Given the description of an element on the screen output the (x, y) to click on. 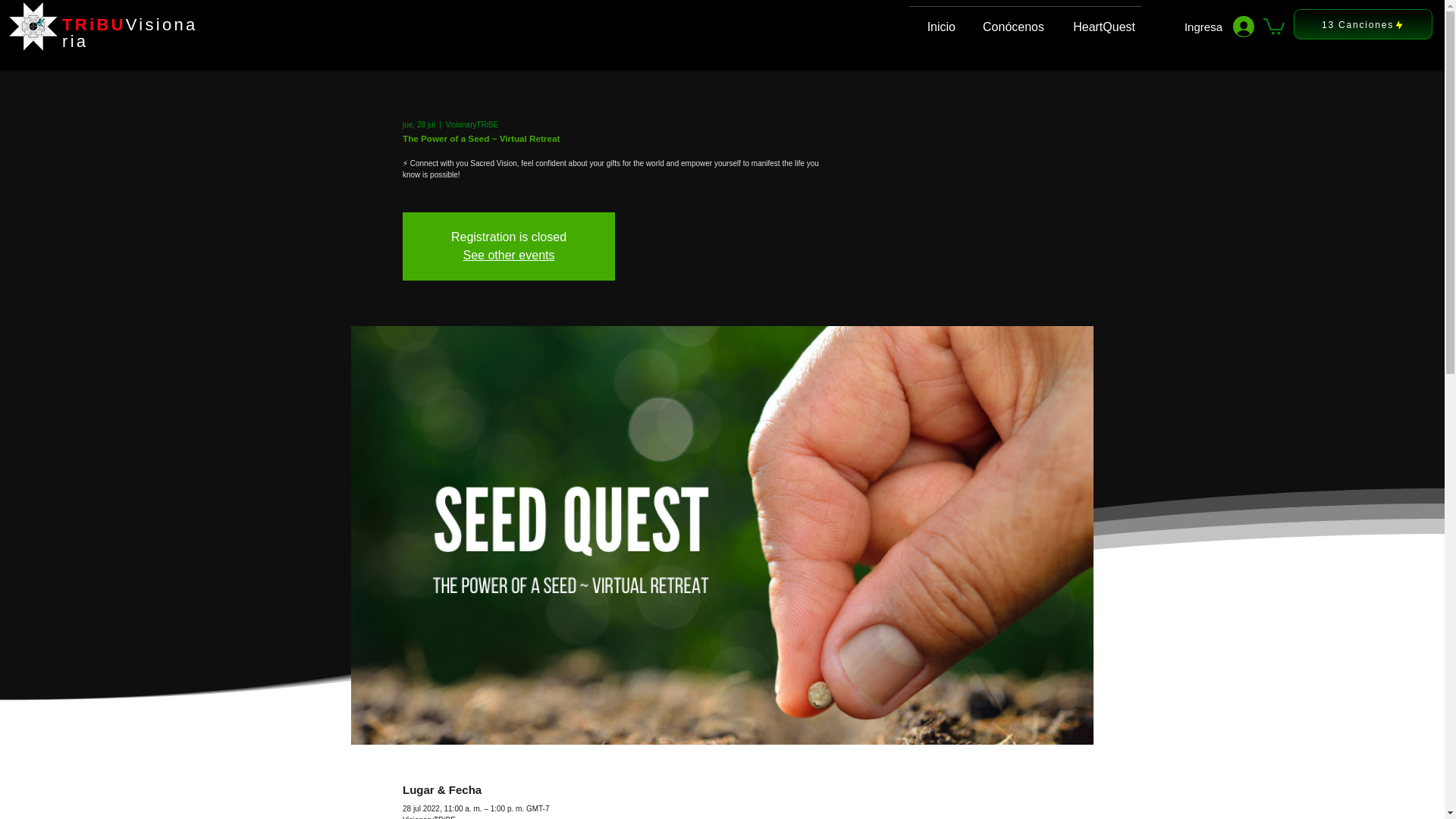
See other events (508, 254)
Ingresa (1219, 26)
13 Canciones (1363, 24)
Inicio (934, 20)
